Given the description of an element on the screen output the (x, y) to click on. 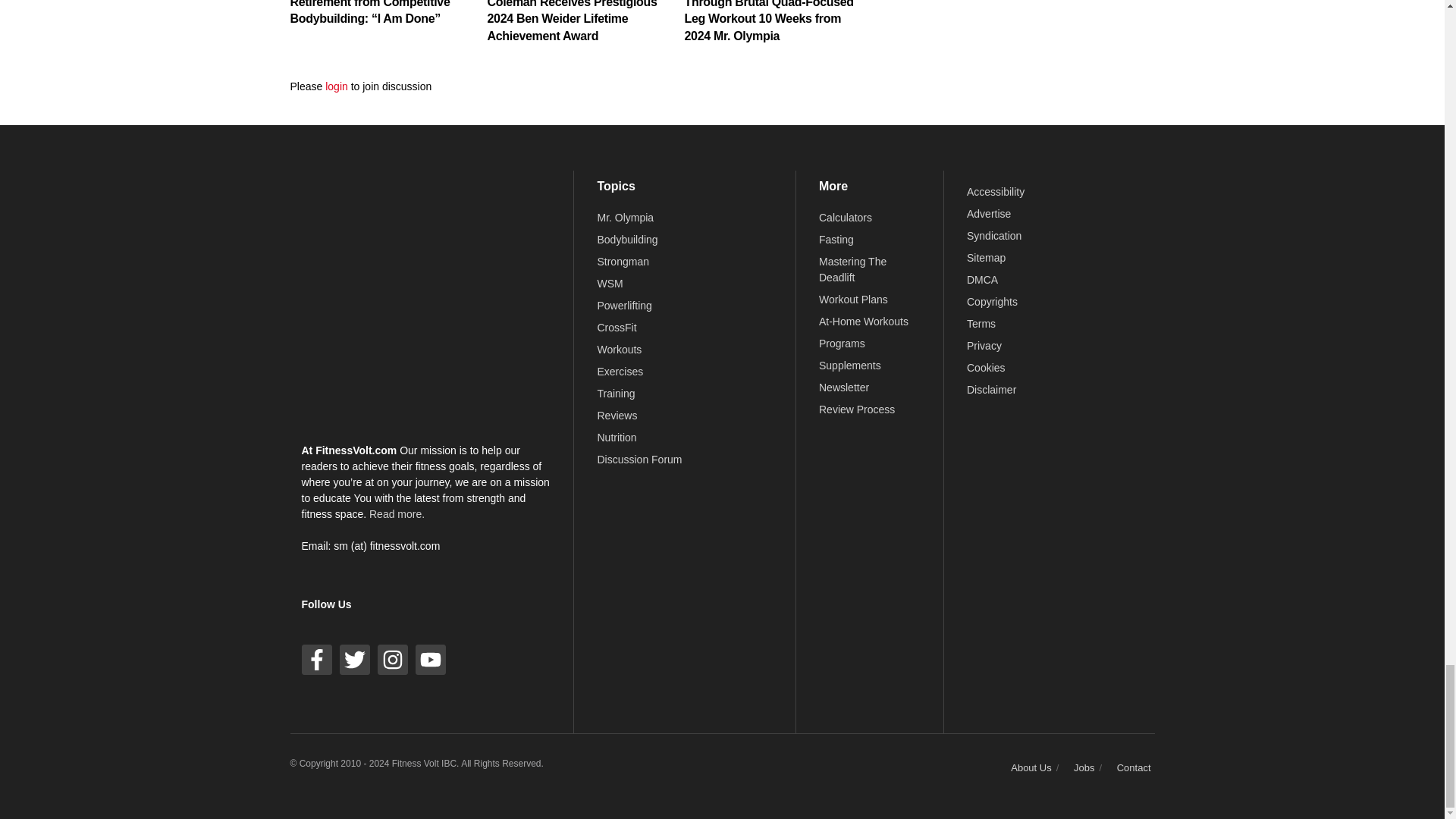
2019 Mr. Olympia News (624, 217)
Accessibility Conformance Status (995, 191)
Read more about Fitness Volt (397, 513)
